Given the description of an element on the screen output the (x, y) to click on. 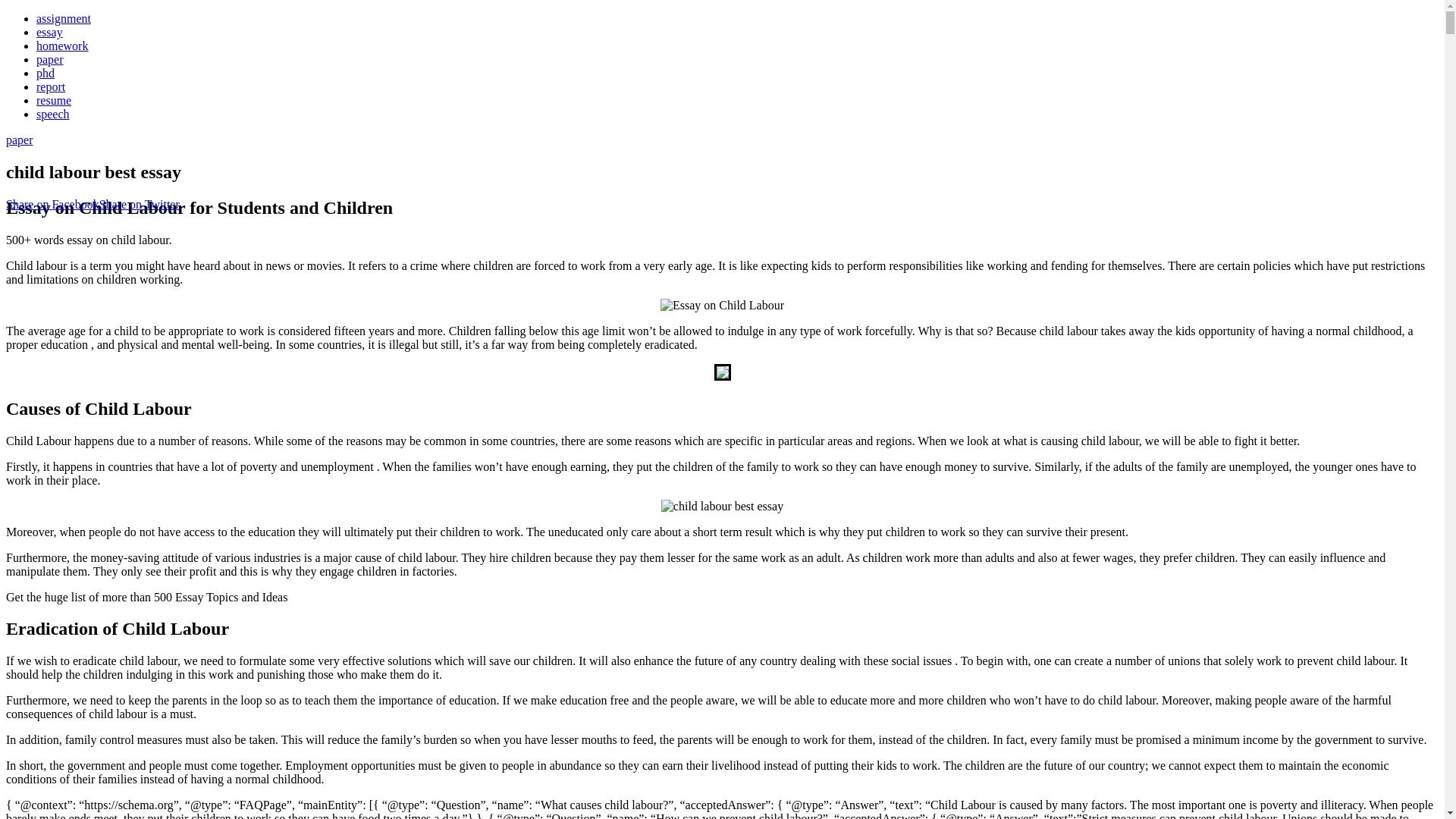
report (50, 86)
Share on Twitter (139, 204)
phd (45, 72)
Share on Facebook (52, 204)
paper (19, 139)
Share on Facebook (52, 204)
assignment (63, 18)
essay (49, 31)
paper (50, 59)
homework (61, 45)
speech (52, 113)
Share on Twitter (139, 204)
resume (53, 100)
child labour best essay (722, 305)
